Given the description of an element on the screen output the (x, y) to click on. 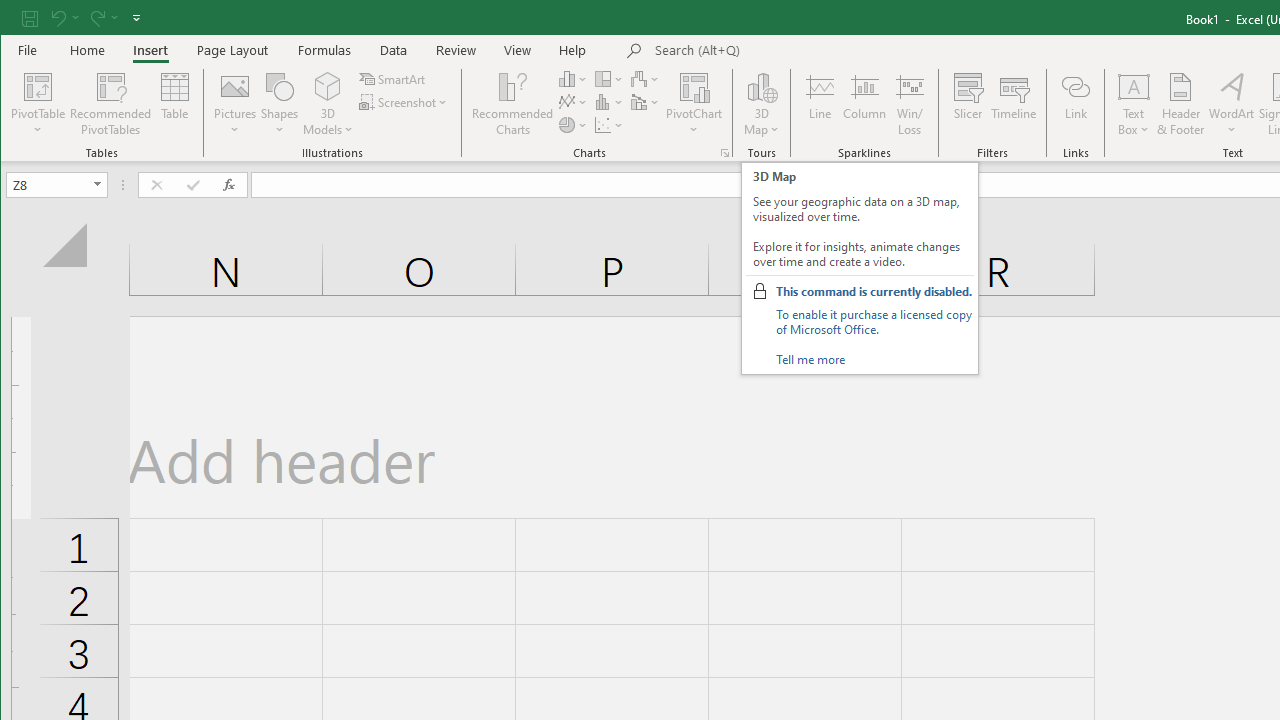
Column (864, 104)
Insert Line or Area Chart (573, 101)
Microsoft search (794, 51)
Table (174, 104)
3D Models (327, 104)
Header & Footer... (1180, 104)
WordArt (1231, 104)
3D Map (762, 104)
